Given the description of an element on the screen output the (x, y) to click on. 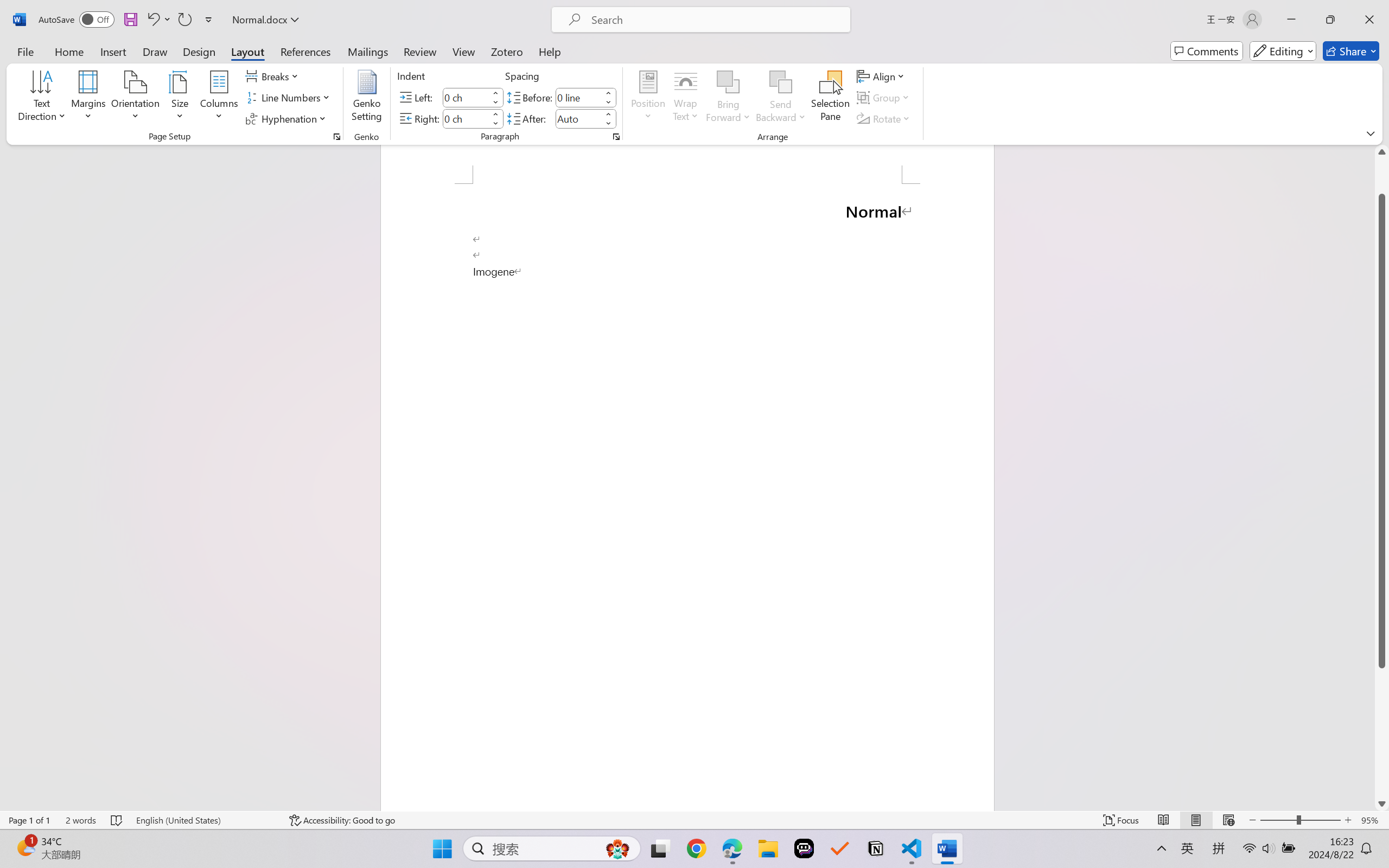
Align (881, 75)
Less (608, 123)
Page Number Page 1 of 1 (29, 819)
Page 1 content (687, 497)
Size (180, 97)
Send Backward (781, 81)
